Given the description of an element on the screen output the (x, y) to click on. 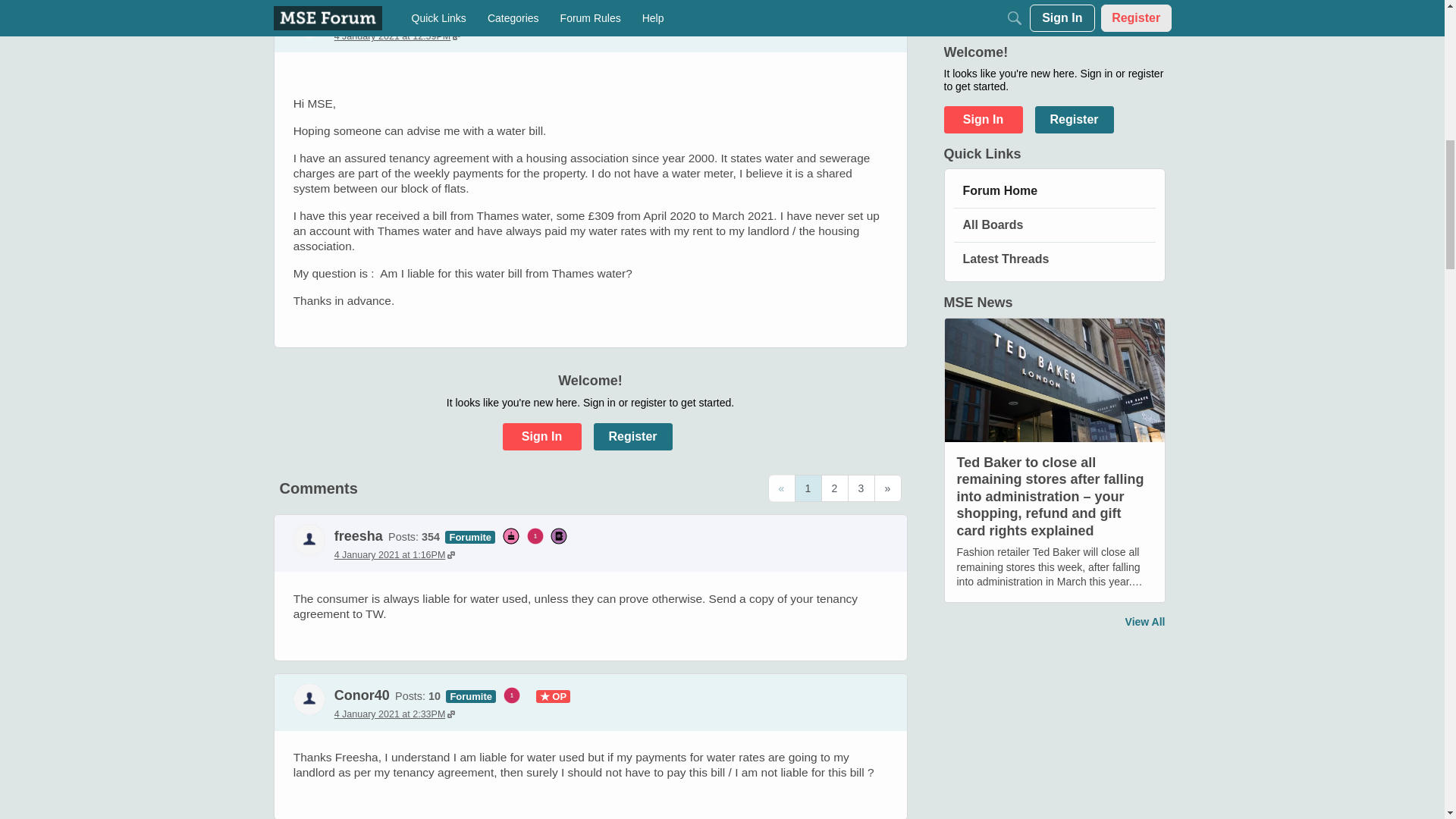
Conor40 (309, 698)
Sign In (541, 436)
Register (631, 436)
3 (861, 488)
Forumite (470, 536)
4 January 2021 at 1:16PM (394, 554)
Register (631, 436)
freesha (358, 535)
Next Page (887, 488)
4 January 2021 at 2:33PM (394, 714)
